Given the description of an element on the screen output the (x, y) to click on. 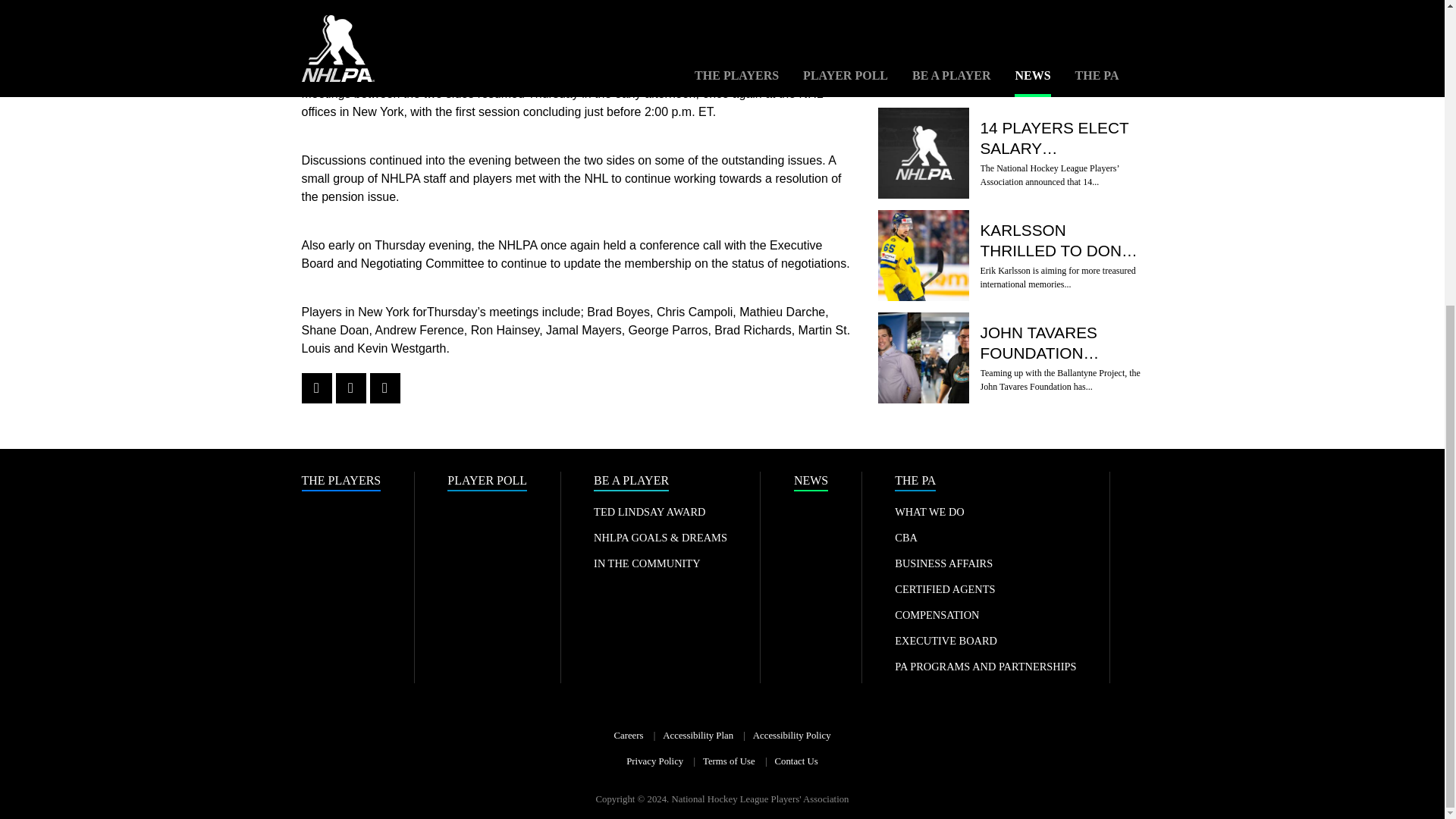
BUSINESS AFFAIRS (943, 563)
CERTIFIED AGENTS (944, 589)
IN THE COMMUNITY (647, 563)
COMPENSATION (936, 614)
Share to Twitter (349, 388)
THE PLAYERS (341, 481)
TED LINDSAY AWARD (649, 511)
BE A PLAYER (631, 481)
NEWS (810, 481)
Share to Facebook (316, 388)
PLAYER POLL (486, 481)
WHAT WE DO (929, 511)
THE PA (915, 481)
Share to LinkedIn (384, 388)
